Given the description of an element on the screen output the (x, y) to click on. 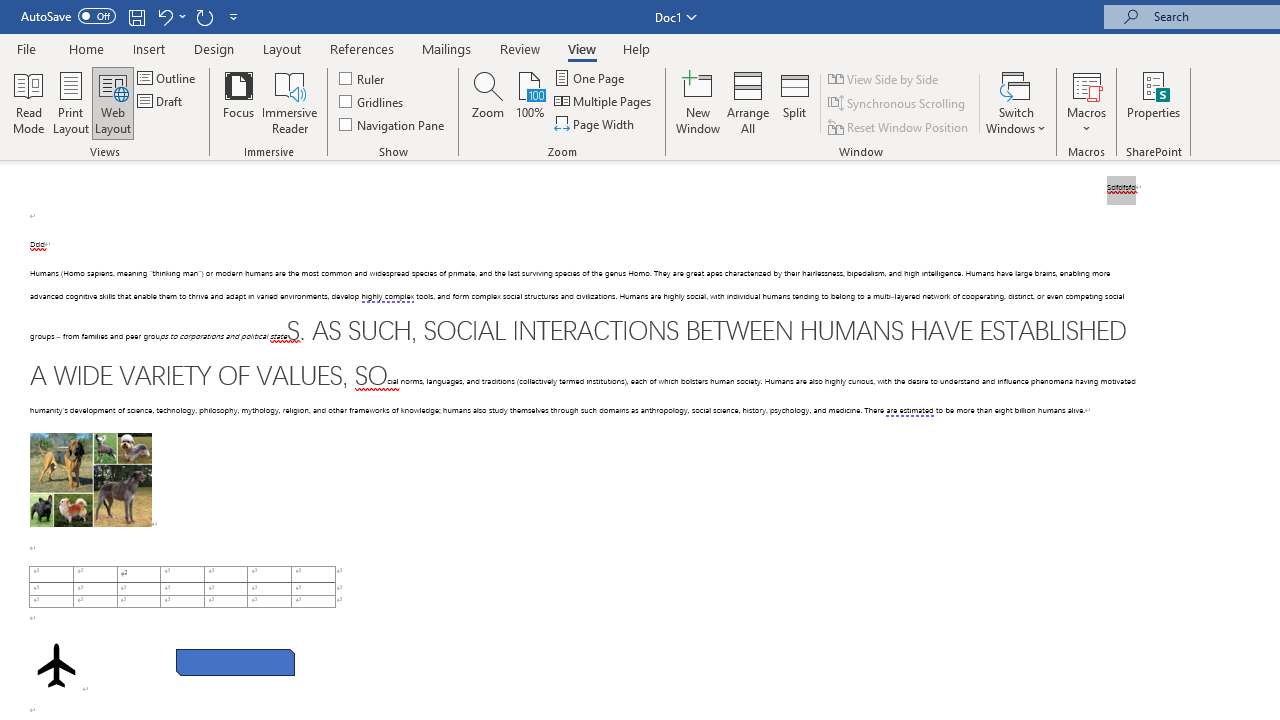
View Side by Side (884, 78)
Undo Paragraph Alignment (170, 15)
Properties (1153, 102)
Split (795, 102)
Draft (161, 101)
